Given the description of an element on the screen output the (x, y) to click on. 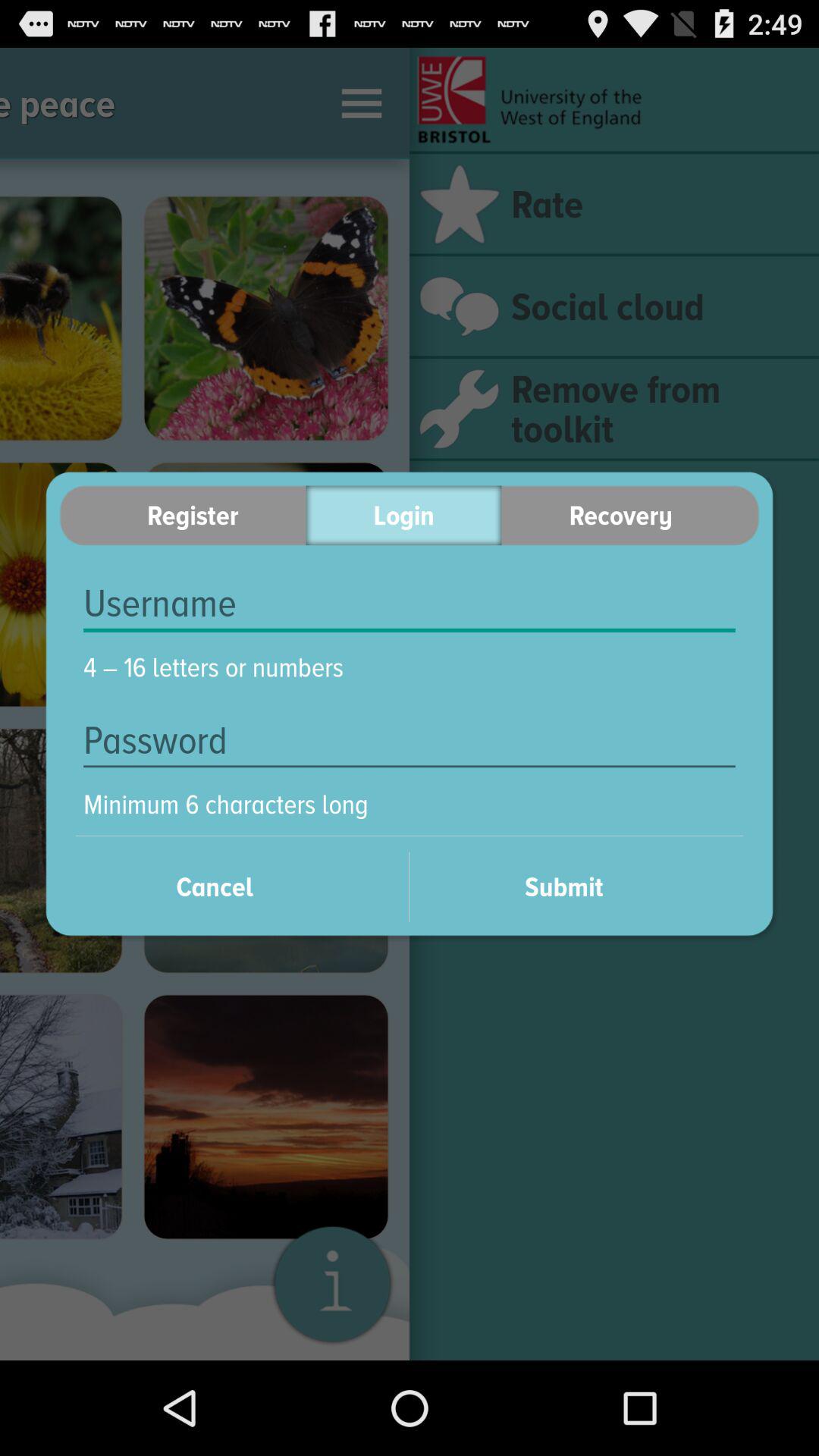
click recovery icon (630, 515)
